Given the description of an element on the screen output the (x, y) to click on. 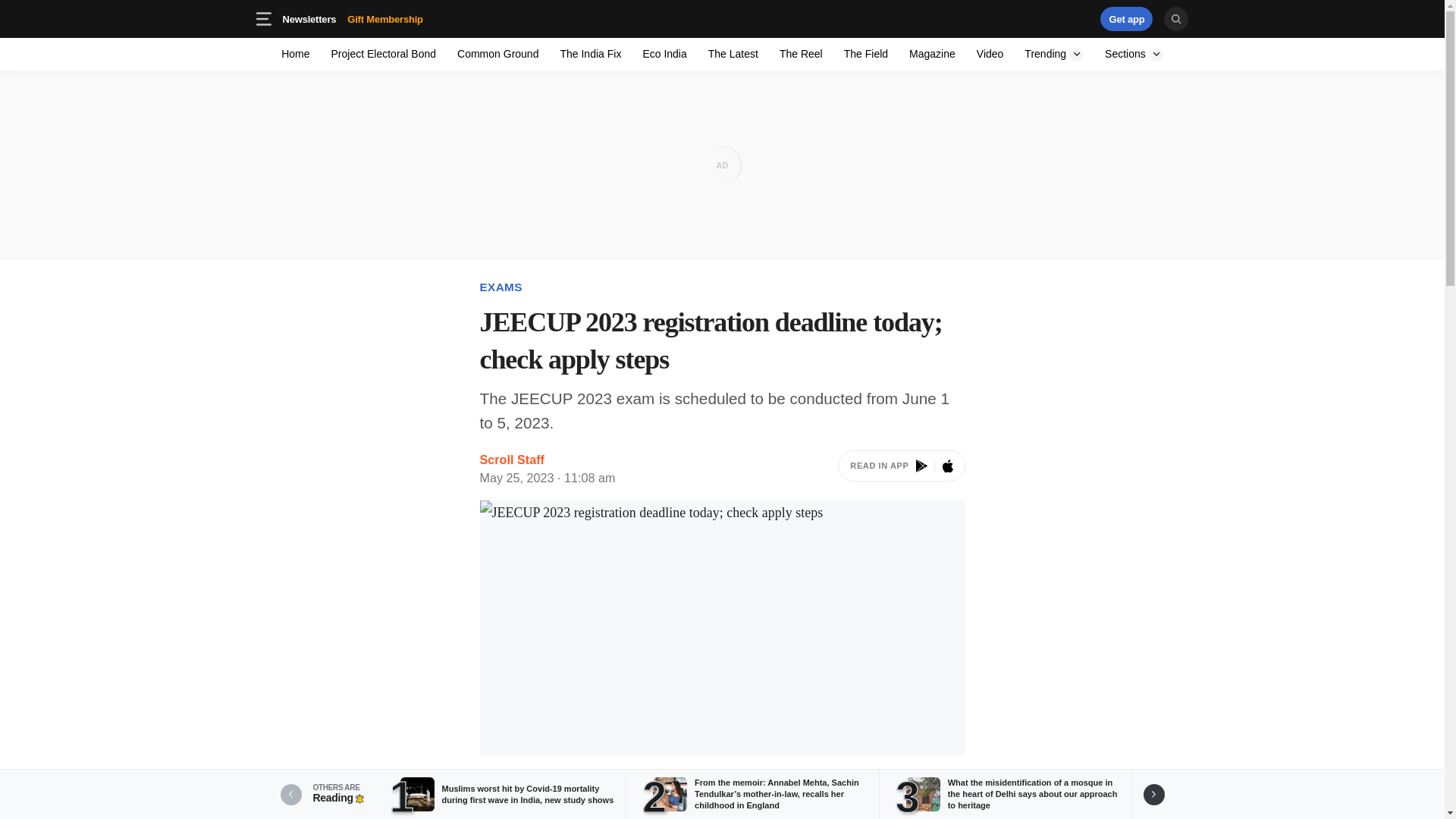
Trending (1053, 53)
READ IN APP (409, 18)
Trending (900, 468)
Gift Membership (1053, 53)
Get app (385, 18)
Get app (1126, 18)
Home (1035, 18)
Project Electoral Bond (295, 53)
Common Ground (383, 53)
Sections (497, 53)
Magazine (1134, 53)
The Field (931, 53)
The Reel (865, 53)
The India Fix (800, 53)
